Given the description of an element on the screen output the (x, y) to click on. 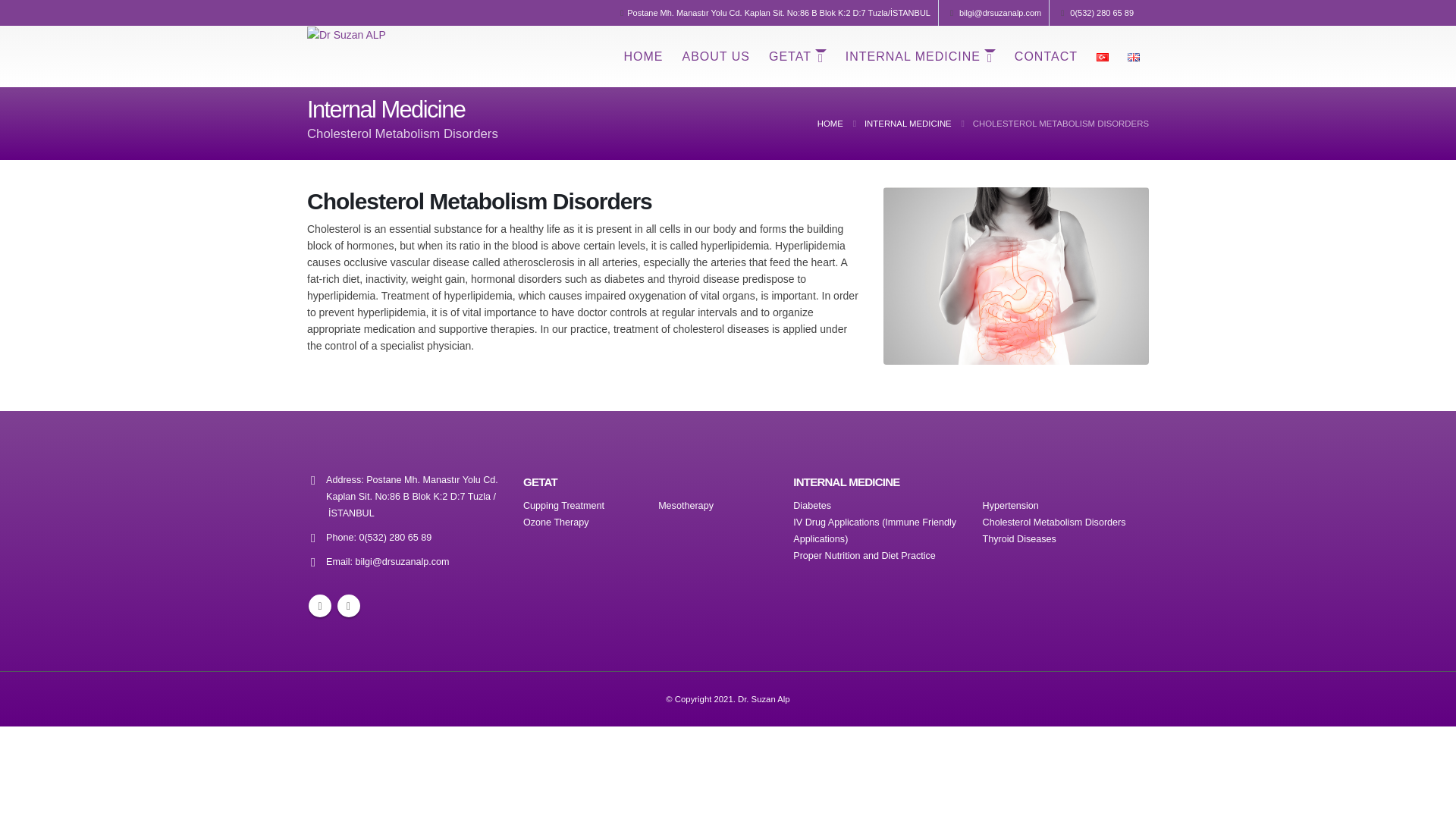
Facebook (319, 605)
Proper Nutrition and Diet Practice (864, 555)
INTERNAL MEDICINE (919, 56)
Instagram (347, 605)
Go to Home Page (829, 123)
Ozone Therapy (555, 521)
Instagram (347, 605)
Thyroid Diseases (1019, 538)
ABOUT US (716, 56)
Dr Suzan ALP -  (346, 34)
HOME (642, 56)
CONTACT (1046, 56)
Hypertension (1010, 505)
Cupping Treatment (563, 505)
HOME (829, 123)
